Given the description of an element on the screen output the (x, y) to click on. 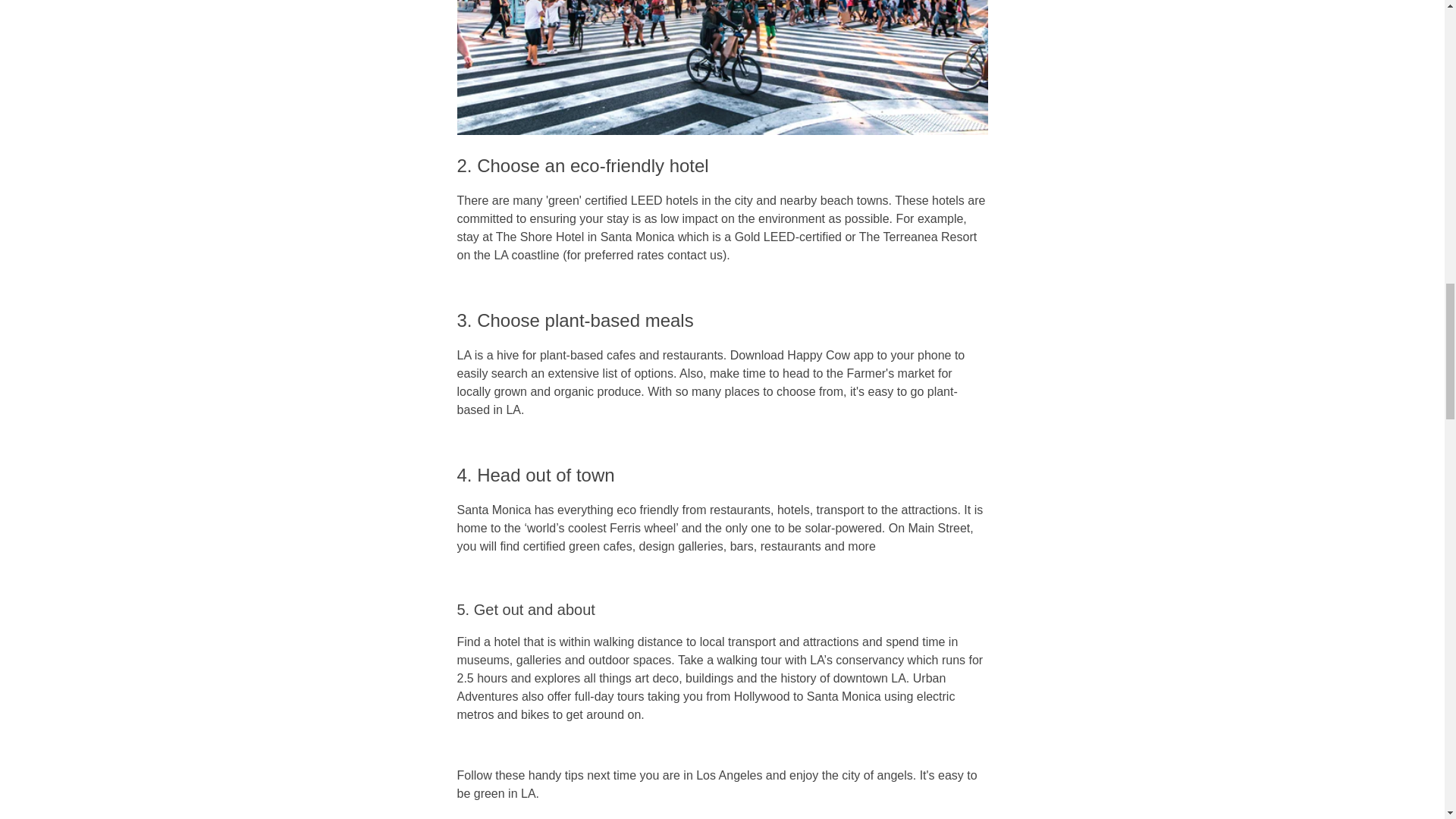
 The Terreanea Resort (916, 236)
Happy Cow (818, 354)
plant-based cafes (587, 354)
conservancy (869, 659)
The Shore Hotel (542, 236)
Santa Monica (494, 509)
Urban Adventures (700, 686)
